Given the description of an element on the screen output the (x, y) to click on. 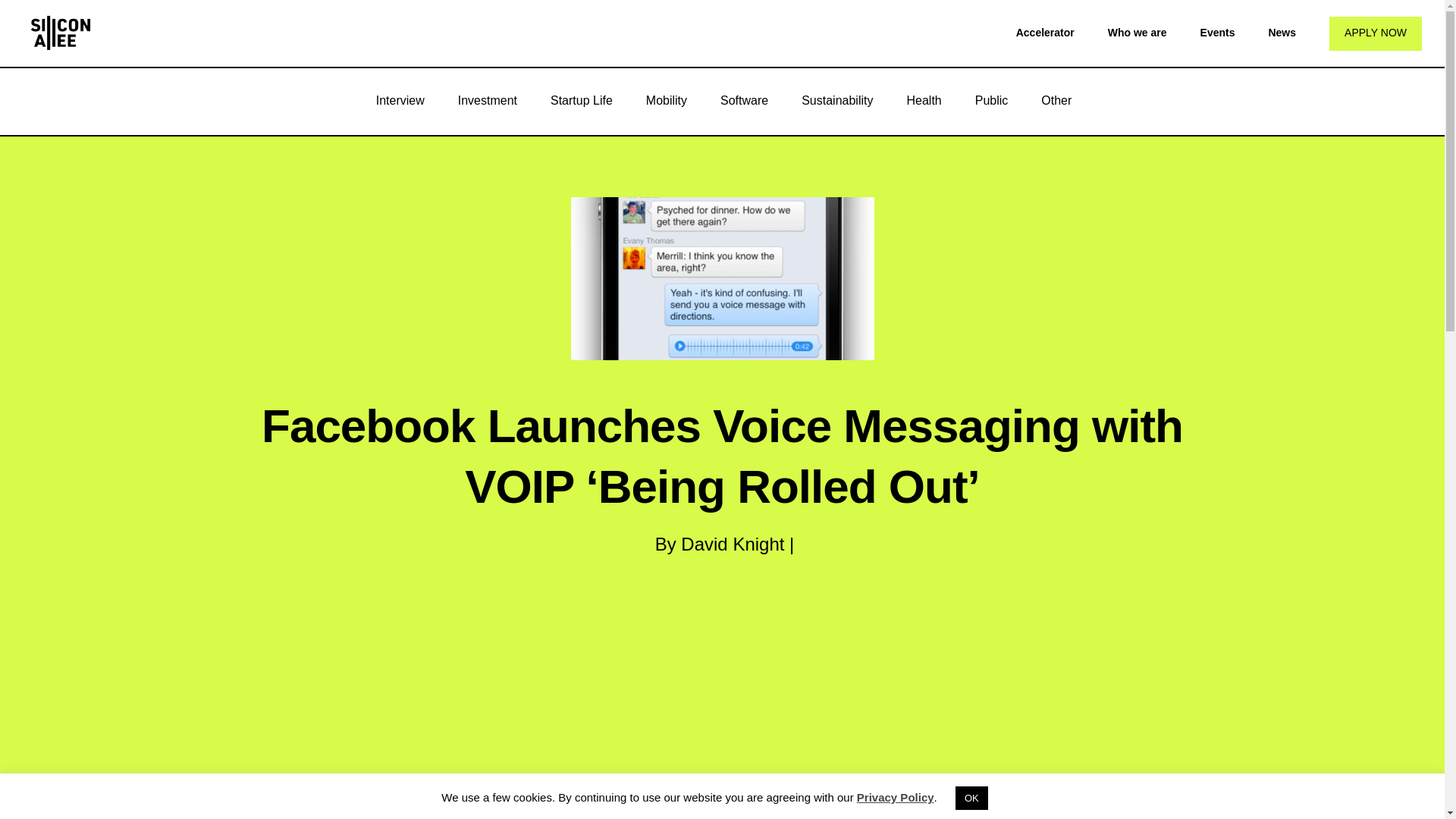
Mobility (665, 100)
Startup Life (581, 100)
APPLY NOW (1375, 33)
Who we are (1137, 31)
Events (1216, 31)
Interview (400, 100)
Investment (487, 100)
Health (923, 100)
Accelerator (1045, 31)
Sustainability (837, 100)
Public (991, 100)
Software (743, 100)
Other (1056, 100)
News (1281, 31)
